Given the description of an element on the screen output the (x, y) to click on. 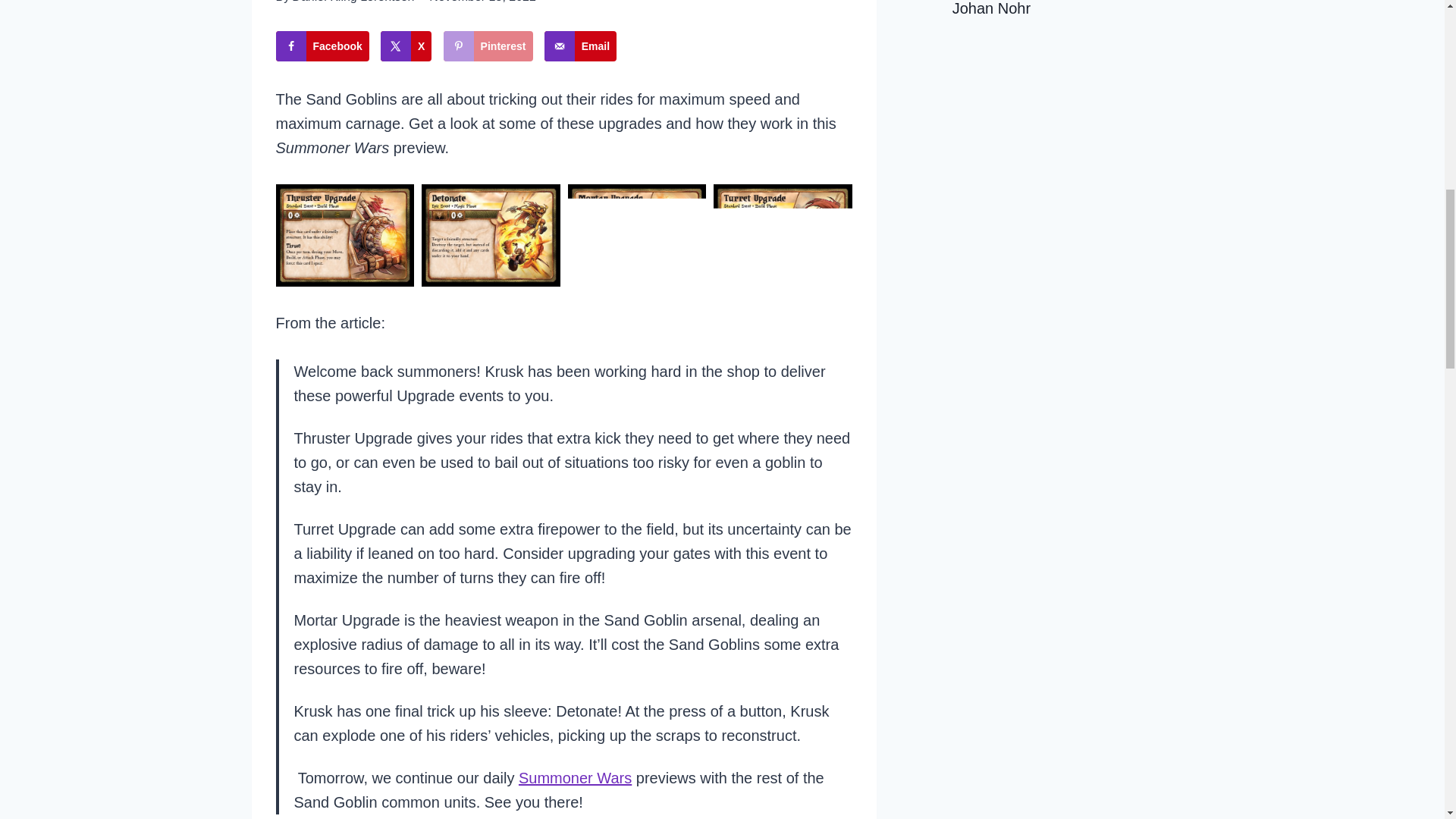
Email (579, 46)
Save to Pinterest (488, 46)
Daniel Kling Lorentsen (352, 1)
X (405, 46)
Share on Facebook (322, 46)
Pinterest (488, 46)
Send over email (579, 46)
Share on X (405, 46)
Facebook (322, 46)
